Given the description of an element on the screen output the (x, y) to click on. 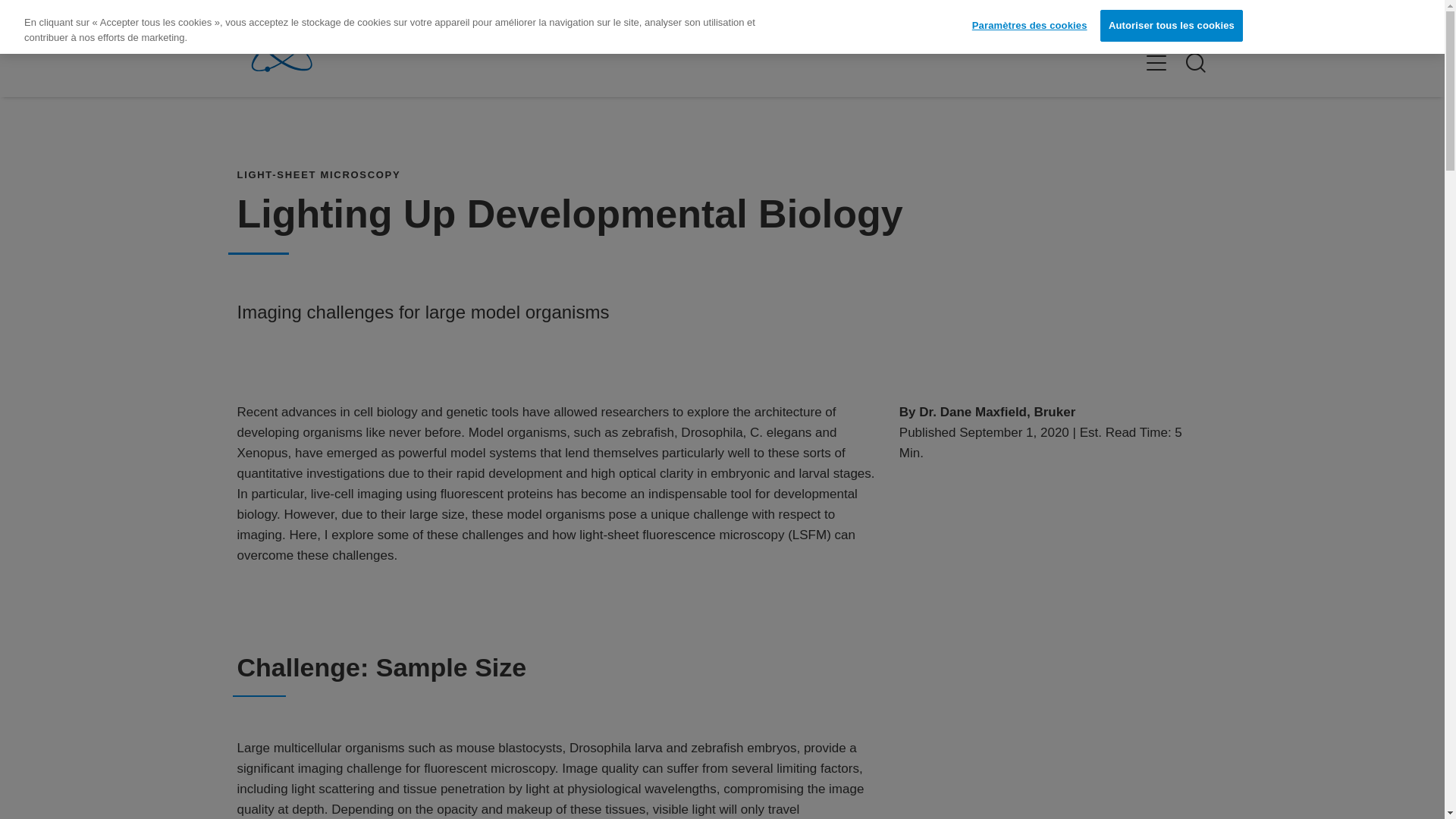
MY BRUKER (1015, 26)
Connexion (1015, 26)
CONTACTER L'EXPERT (1142, 26)
CONTACTER L'EXPERT (1141, 27)
